Given the description of an element on the screen output the (x, y) to click on. 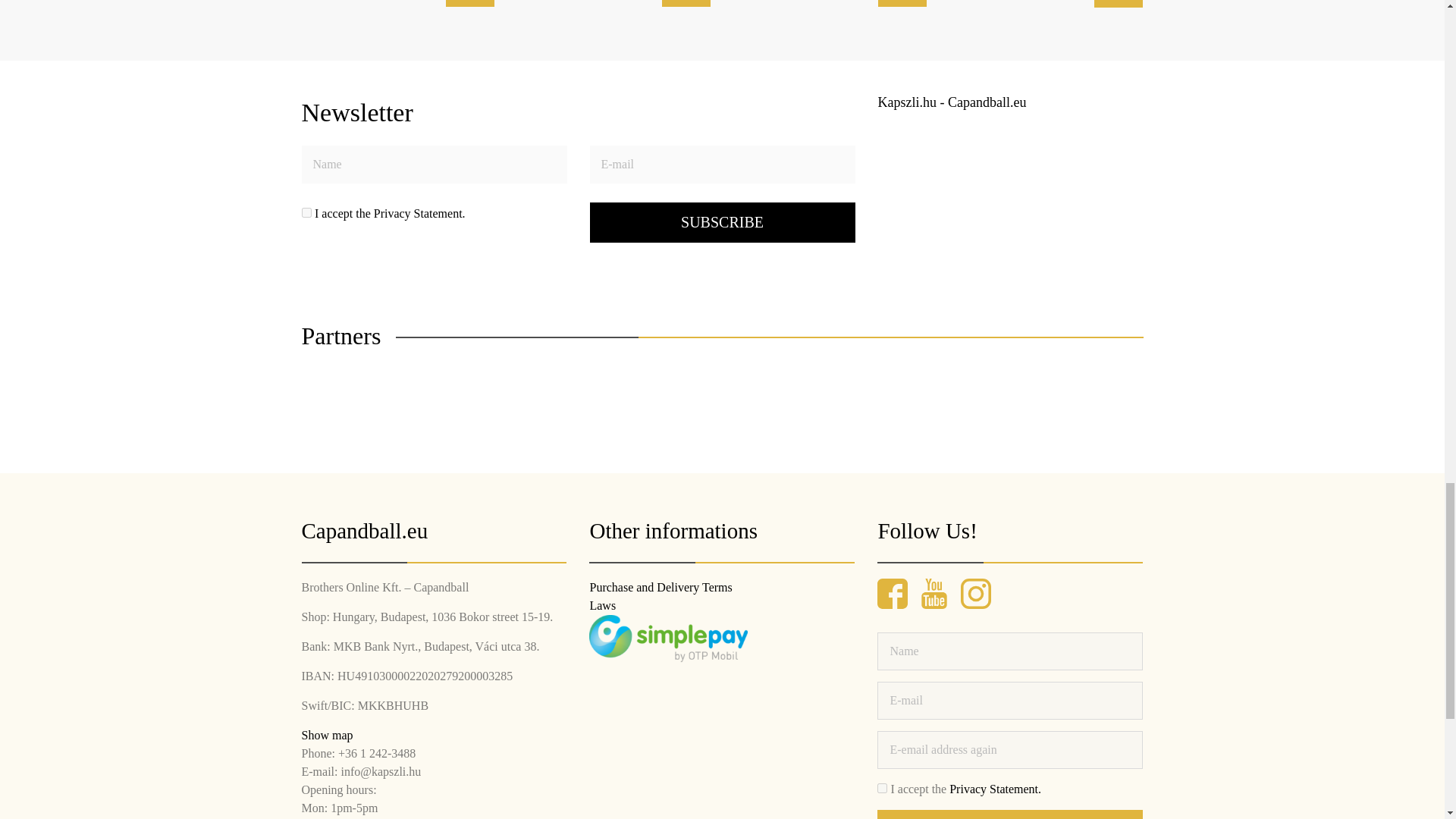
on (306, 212)
on (881, 787)
